Given the description of an element on the screen output the (x, y) to click on. 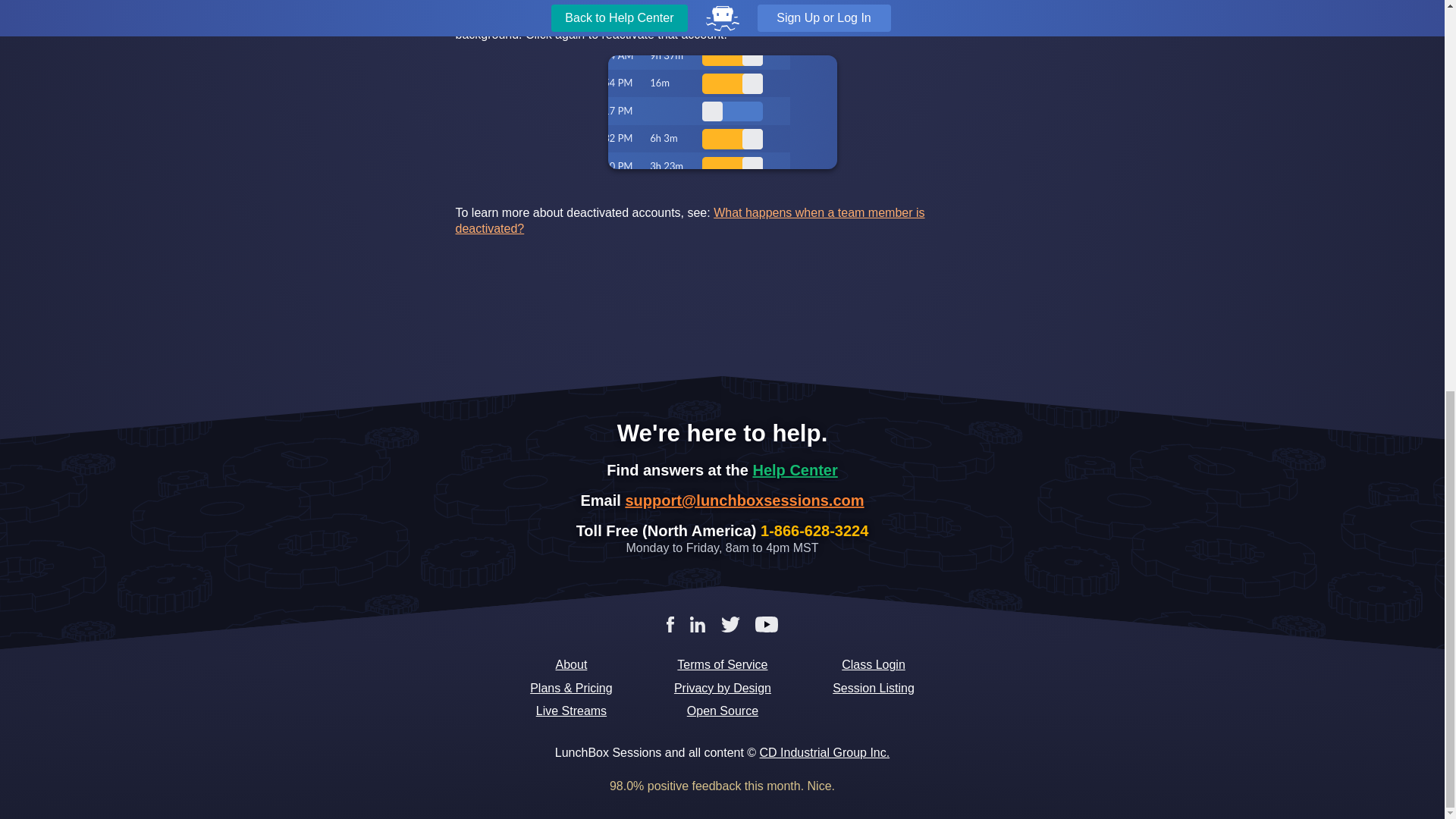
Twitter (729, 623)
LinkedIn (697, 623)
Open Source (722, 711)
Facebook (670, 623)
Help Center (794, 469)
Privacy by Design (722, 688)
YouTube (766, 623)
Live Streams (570, 711)
CD Industrial Group Inc. (824, 752)
About (570, 665)
What happens when a team member is deactivated? (689, 220)
Terms of Service (722, 665)
Class Login (873, 665)
Session Listing (873, 688)
